Given the description of an element on the screen output the (x, y) to click on. 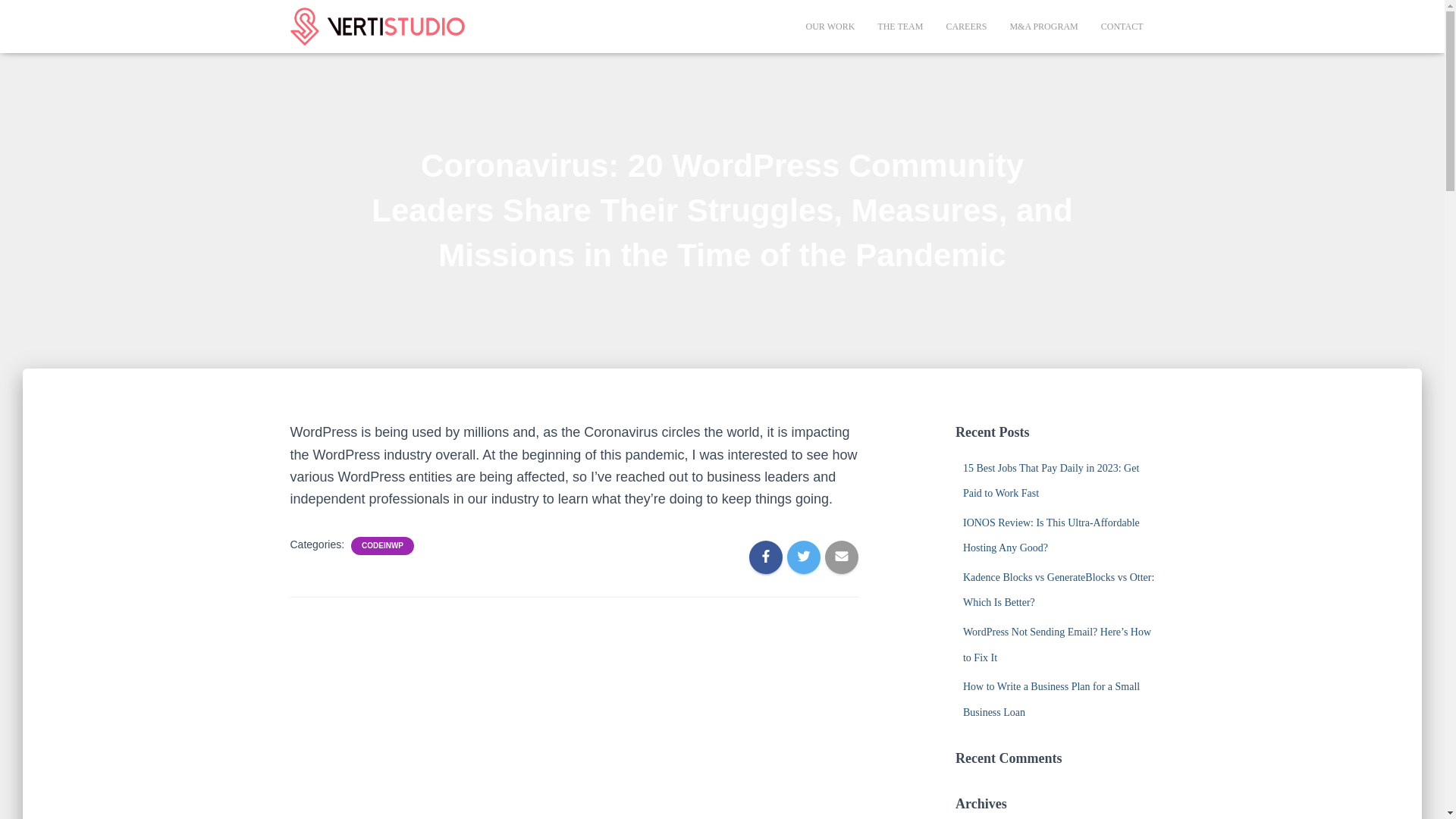
VertiStudio (377, 26)
The Team (900, 26)
CAREERS (965, 26)
THE TEAM (900, 26)
Contact (1121, 26)
IONOS Review: Is This Ultra-Affordable Hosting Any Good? (1051, 535)
CODEINWP (381, 545)
Kadence Blocks vs GenerateBlocks vs Otter: Which Is Better? (1058, 590)
Careers (965, 26)
OUR WORK (830, 26)
